Given the description of an element on the screen output the (x, y) to click on. 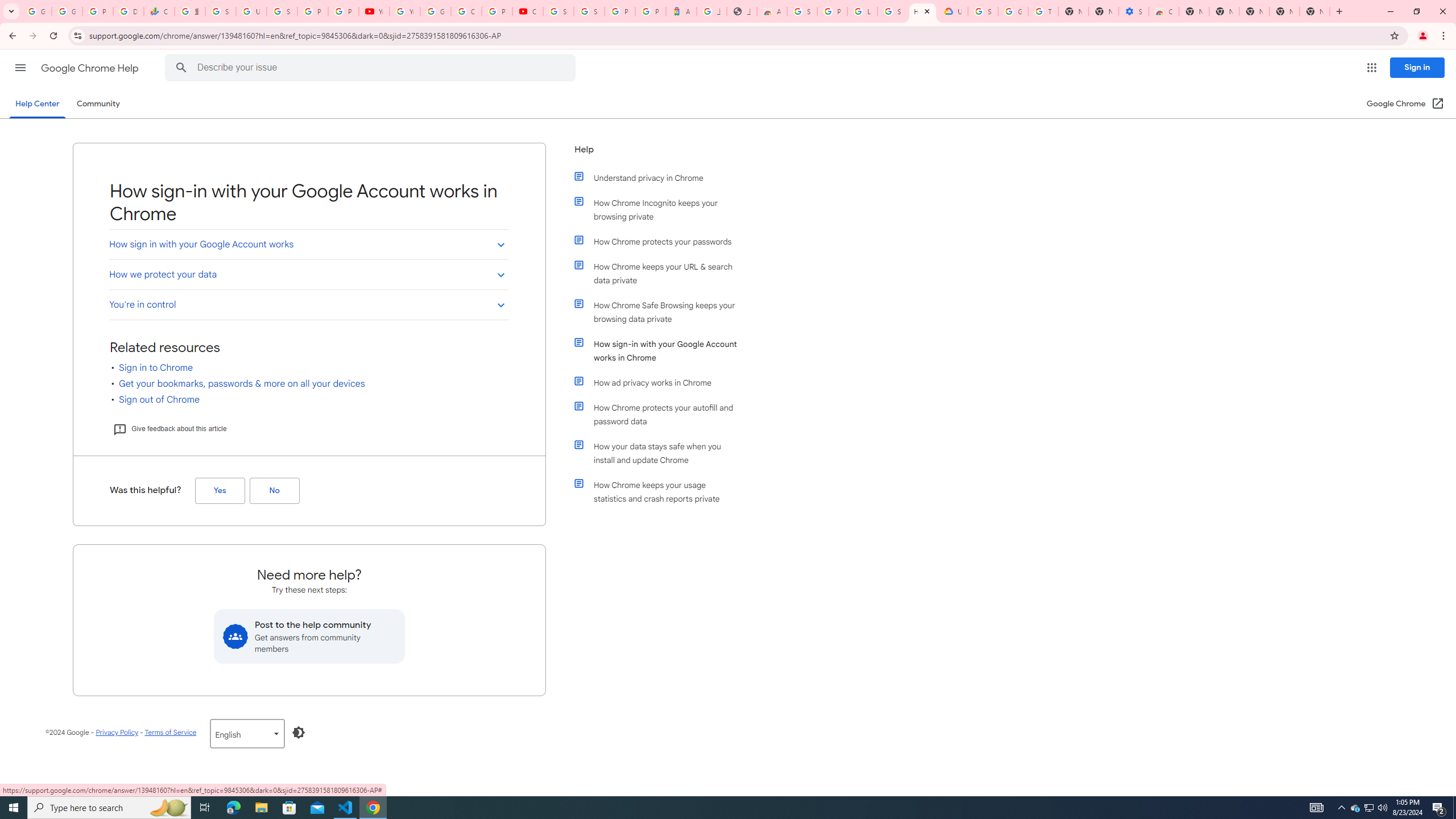
Create your Google Account (465, 11)
Understand privacy in Chrome (661, 177)
Sign in - Google Accounts (558, 11)
Sign out of Chrome (159, 399)
Get your bookmarks, passwords & more on all your devices (242, 383)
How Chrome protects your passwords (661, 241)
Search Help Center (181, 67)
New Tab (1254, 11)
Main menu (20, 67)
Sign in - Google Accounts (801, 11)
